Given the description of an element on the screen output the (x, y) to click on. 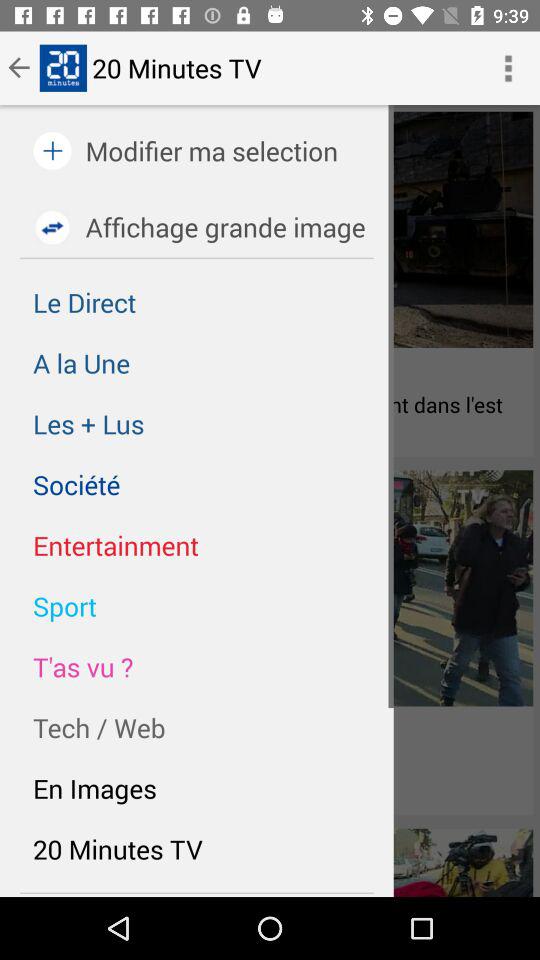
select the icon which is before affichage grande image on page (51, 226)
